Given the description of an element on the screen output the (x, y) to click on. 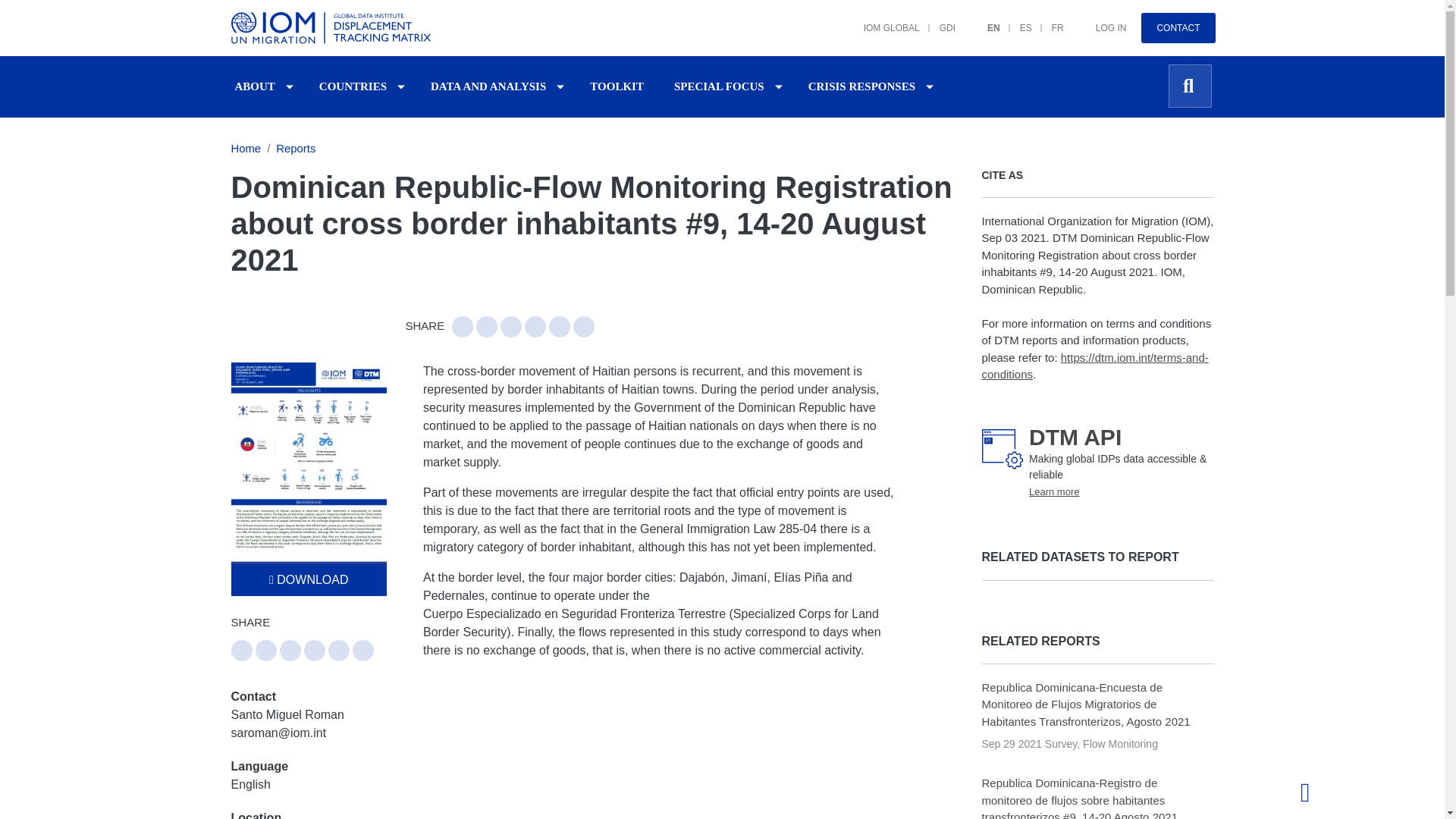
IOM GLOBAL (882, 19)
LOG IN (1100, 19)
Home (333, 28)
CONTACT (1177, 28)
ABOUT (254, 86)
ES (1016, 19)
GDI (937, 19)
FR (1048, 19)
EN (984, 19)
